Given the description of an element on the screen output the (x, y) to click on. 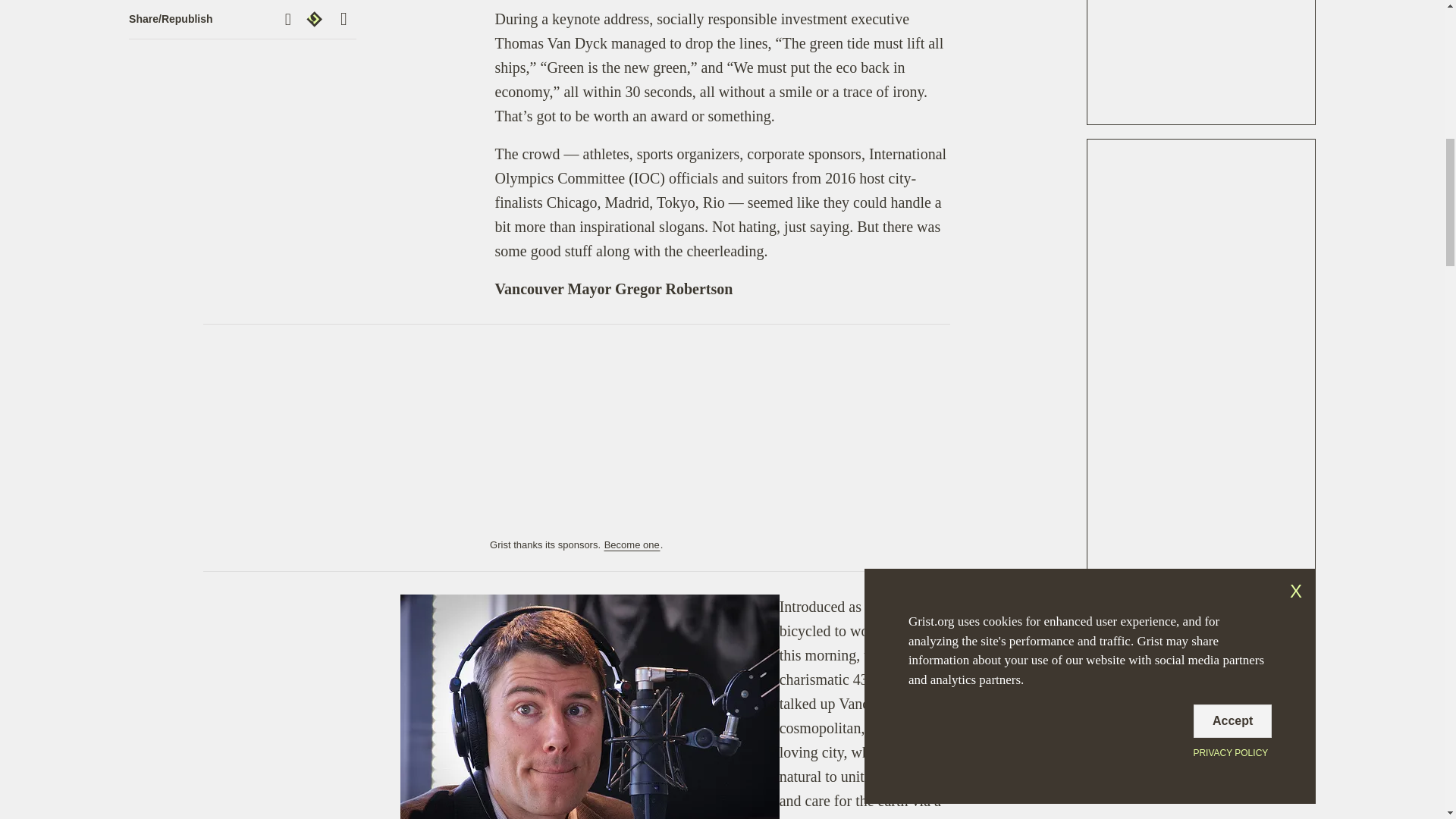
Republish the article (316, 18)
3rd party ad content (1200, 62)
Copy article link (289, 18)
